Given the description of an element on the screen output the (x, y) to click on. 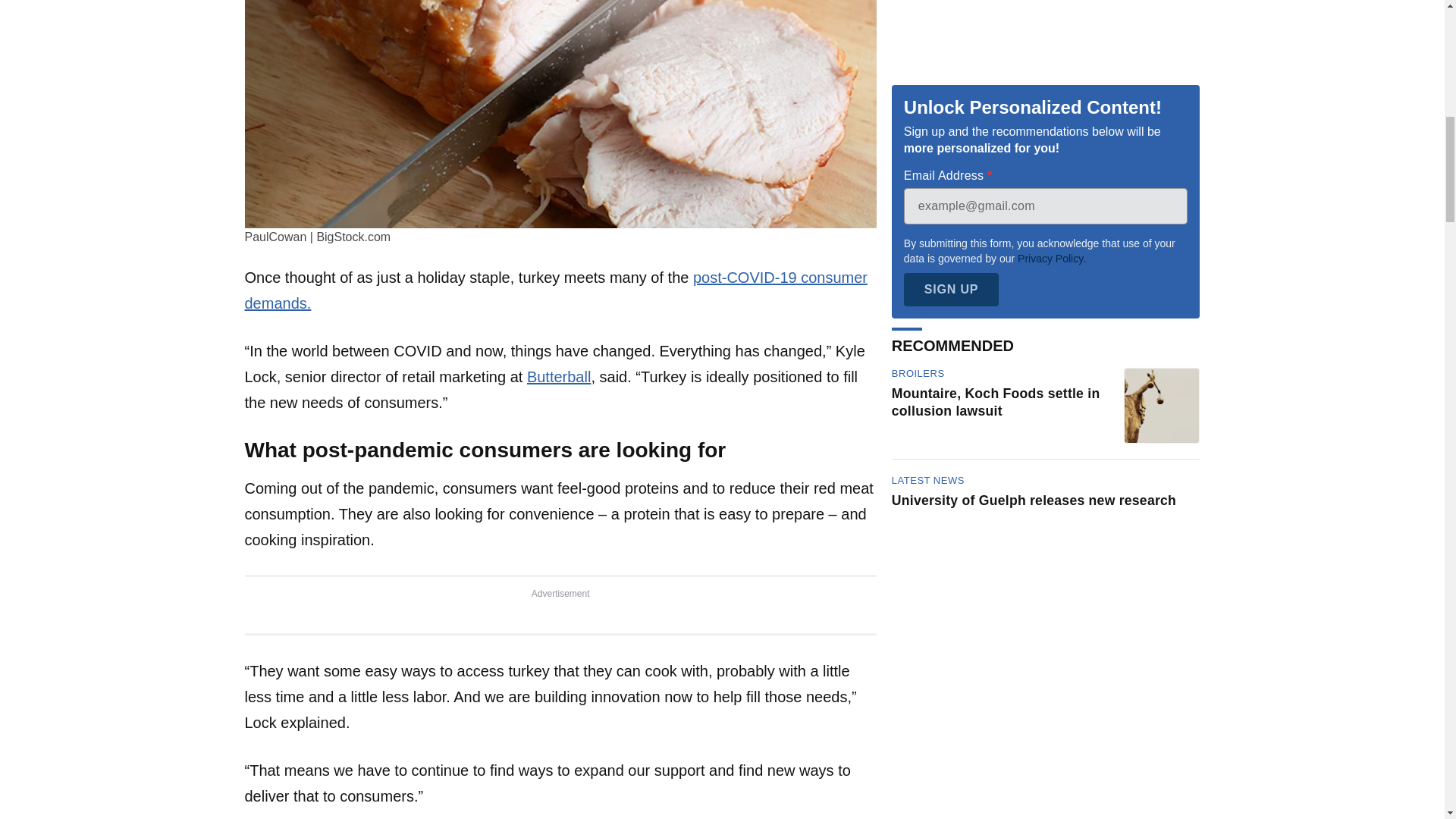
Latest News (927, 217)
